Given the description of an element on the screen output the (x, y) to click on. 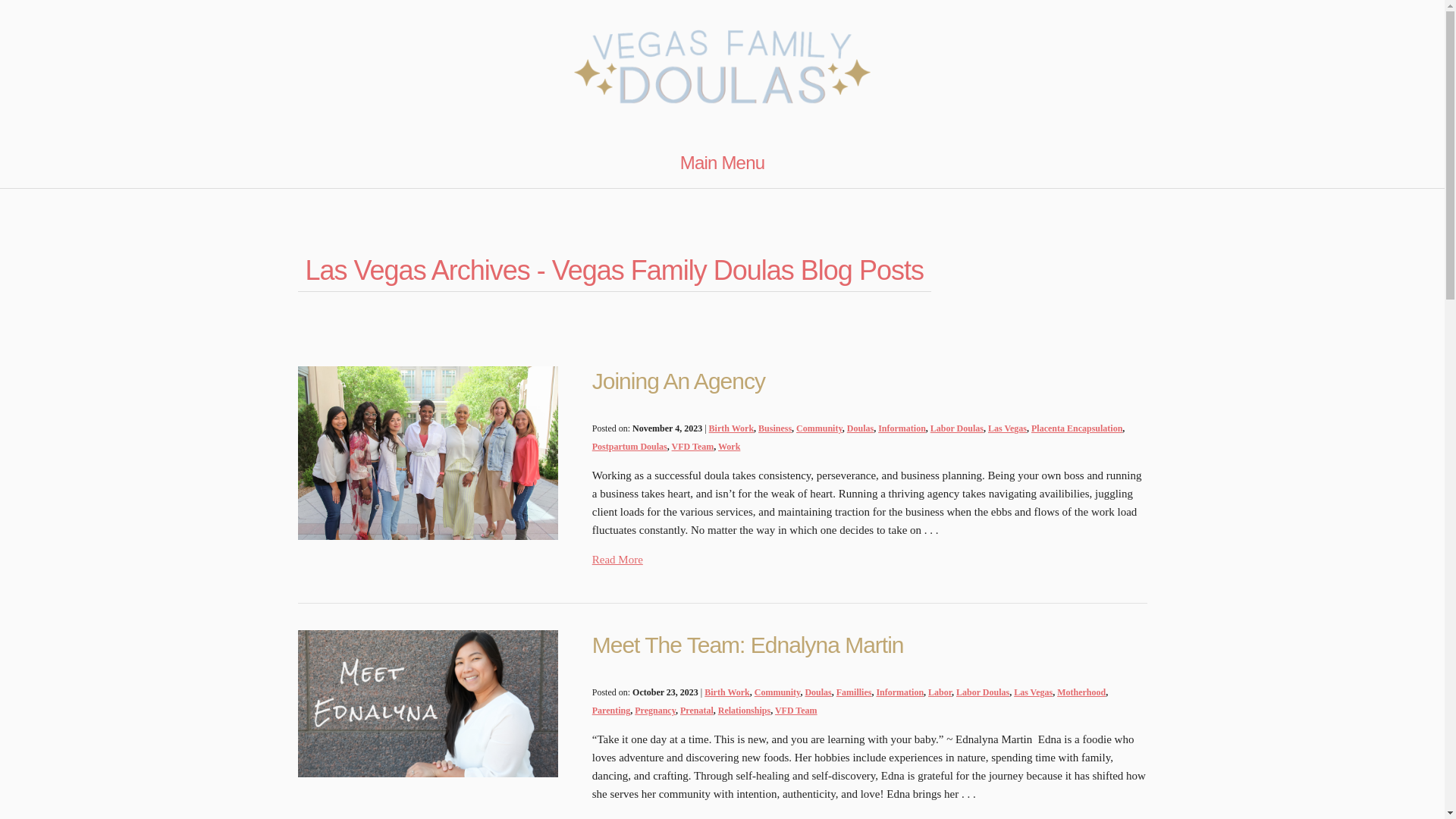
Meet The Team: Ednalyna Martin (748, 644)
Business (775, 428)
Birth Work (731, 428)
Doulas (818, 692)
Doulas (860, 428)
Postpartum Doulas (629, 446)
VFD Team (692, 446)
Read More (617, 559)
Las Vegas (1007, 428)
Labor Doulas (957, 428)
